Given the description of an element on the screen output the (x, y) to click on. 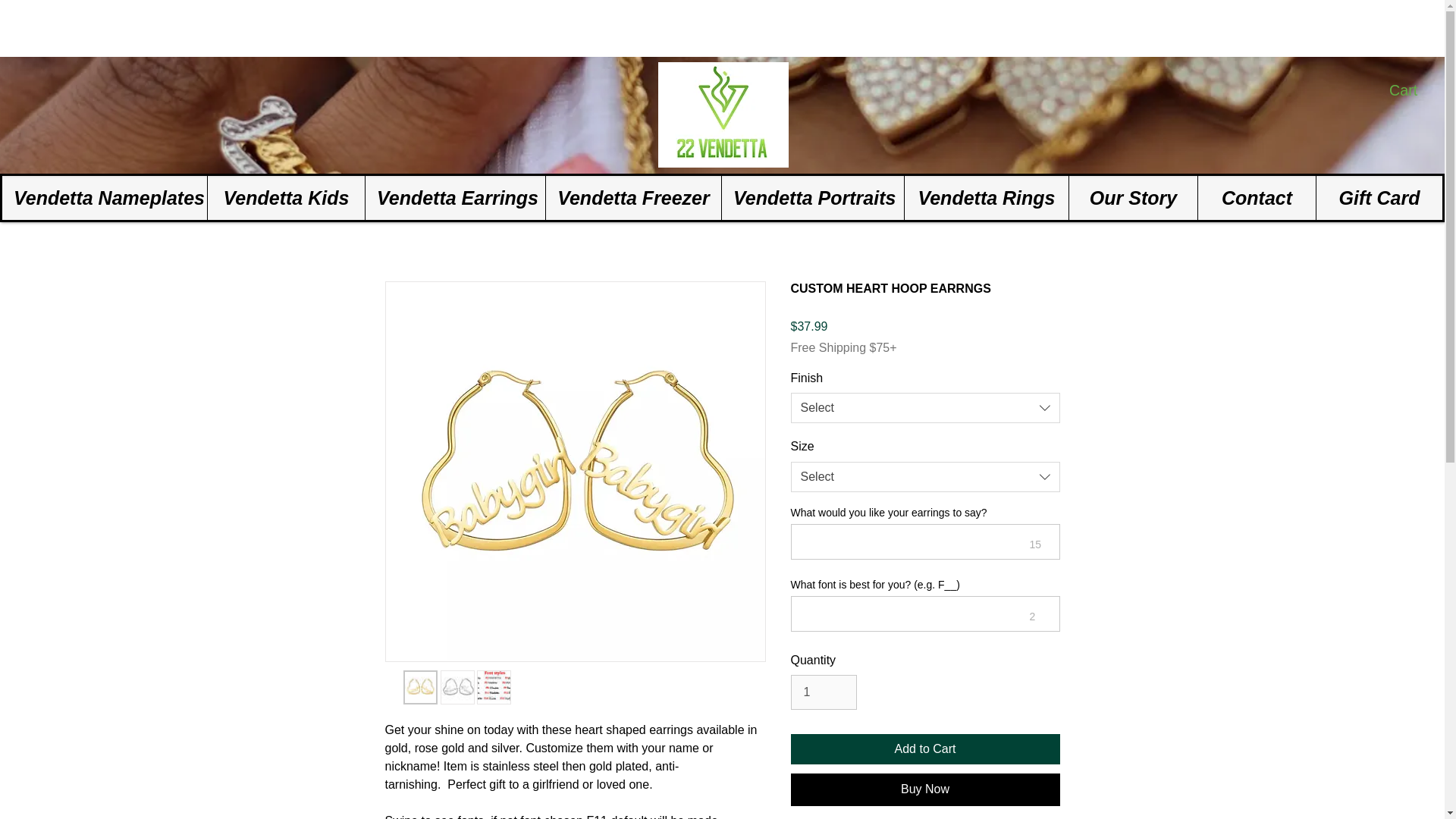
Vendetta Freezer (632, 198)
Our Story (1132, 198)
Vendetta Portraits (812, 198)
Vendetta Earrings (454, 198)
Contact (1256, 198)
Buy Now (924, 789)
1 (823, 692)
Vendetta Nameplates (104, 198)
Select (924, 408)
Select (924, 476)
Vendetta Kids (285, 198)
Vendetta Rings (986, 198)
Gift Card (1379, 198)
Cart (1413, 90)
Cart (1413, 90)
